Given the description of an element on the screen output the (x, y) to click on. 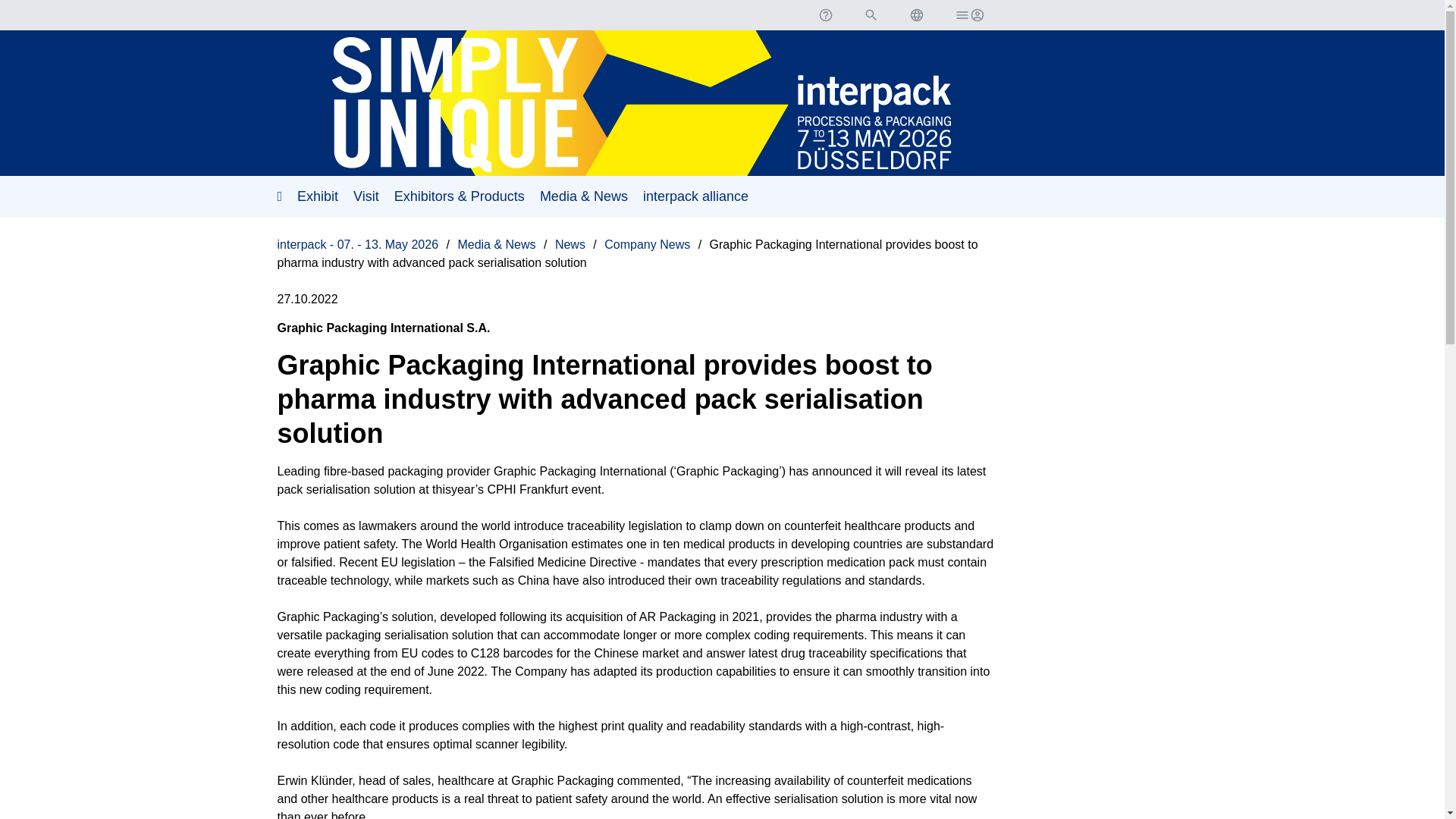
Search (870, 14)
Login (968, 14)
ENGLISH (915, 14)
Support (824, 14)
